Given the description of an element on the screen output the (x, y) to click on. 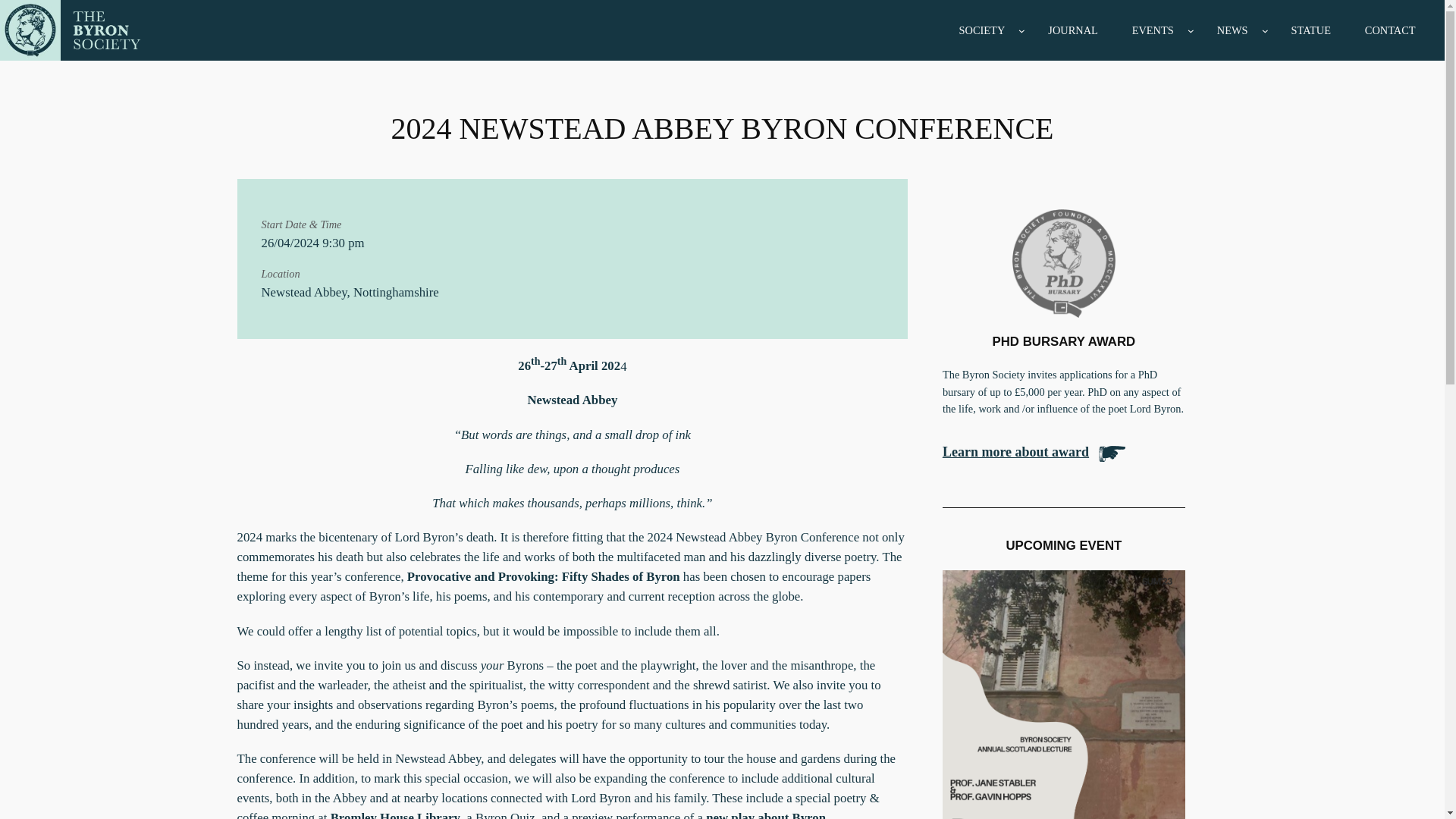
CONTACT (1390, 30)
JOURNAL (1072, 30)
SOCIETY (981, 30)
NEWS (1232, 30)
Learn more about award (1015, 452)
EVENTS (1153, 30)
Bromley House Library (395, 814)
STATUE (1309, 30)
new play about Byron (765, 814)
